Given the description of an element on the screen output the (x, y) to click on. 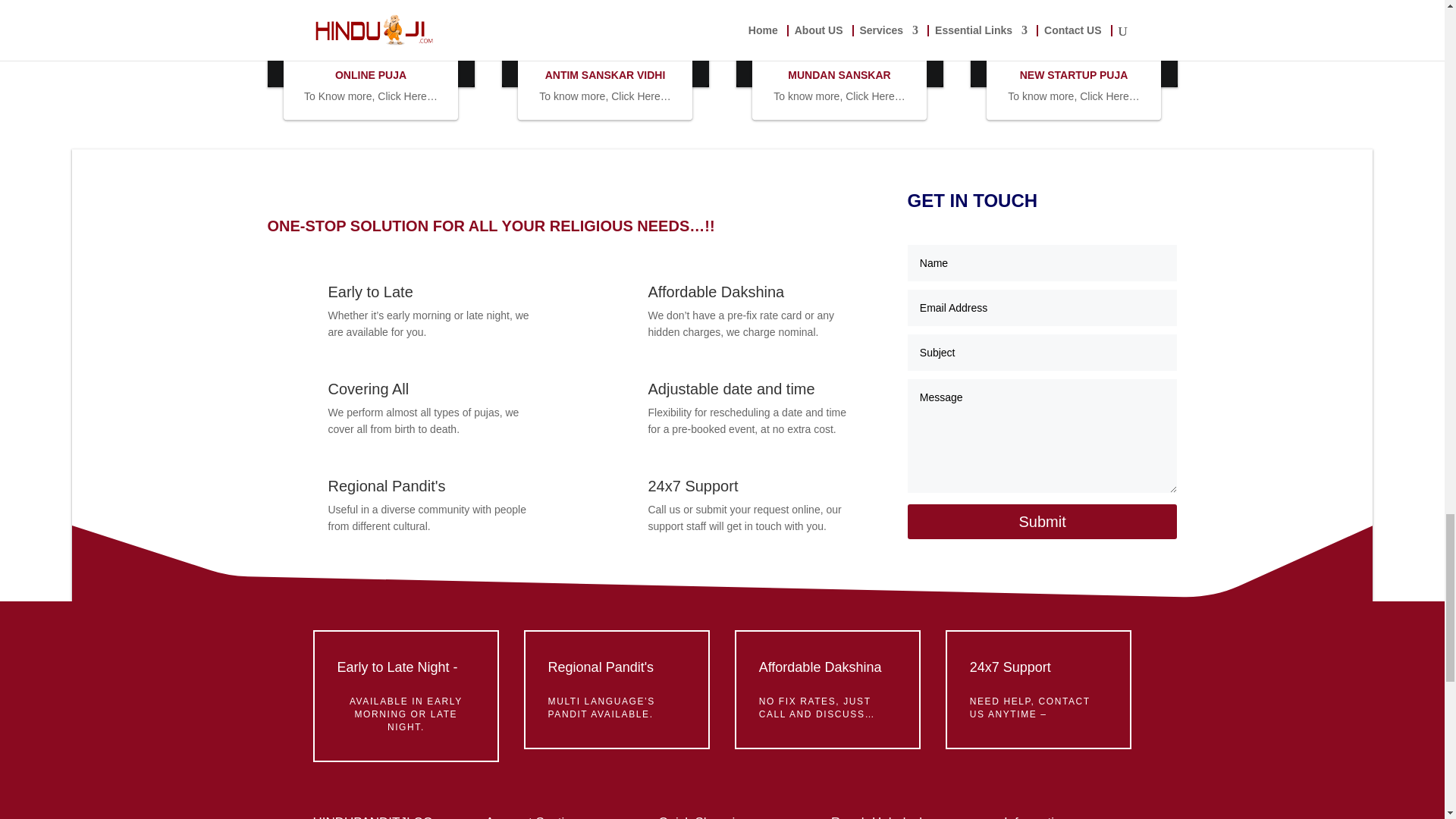
New Business Opening (1074, 43)
Last rites Antim Sanskar (605, 43)
Online Puja (370, 43)
Chudakarna Sanskar (838, 43)
